Given the description of an element on the screen output the (x, y) to click on. 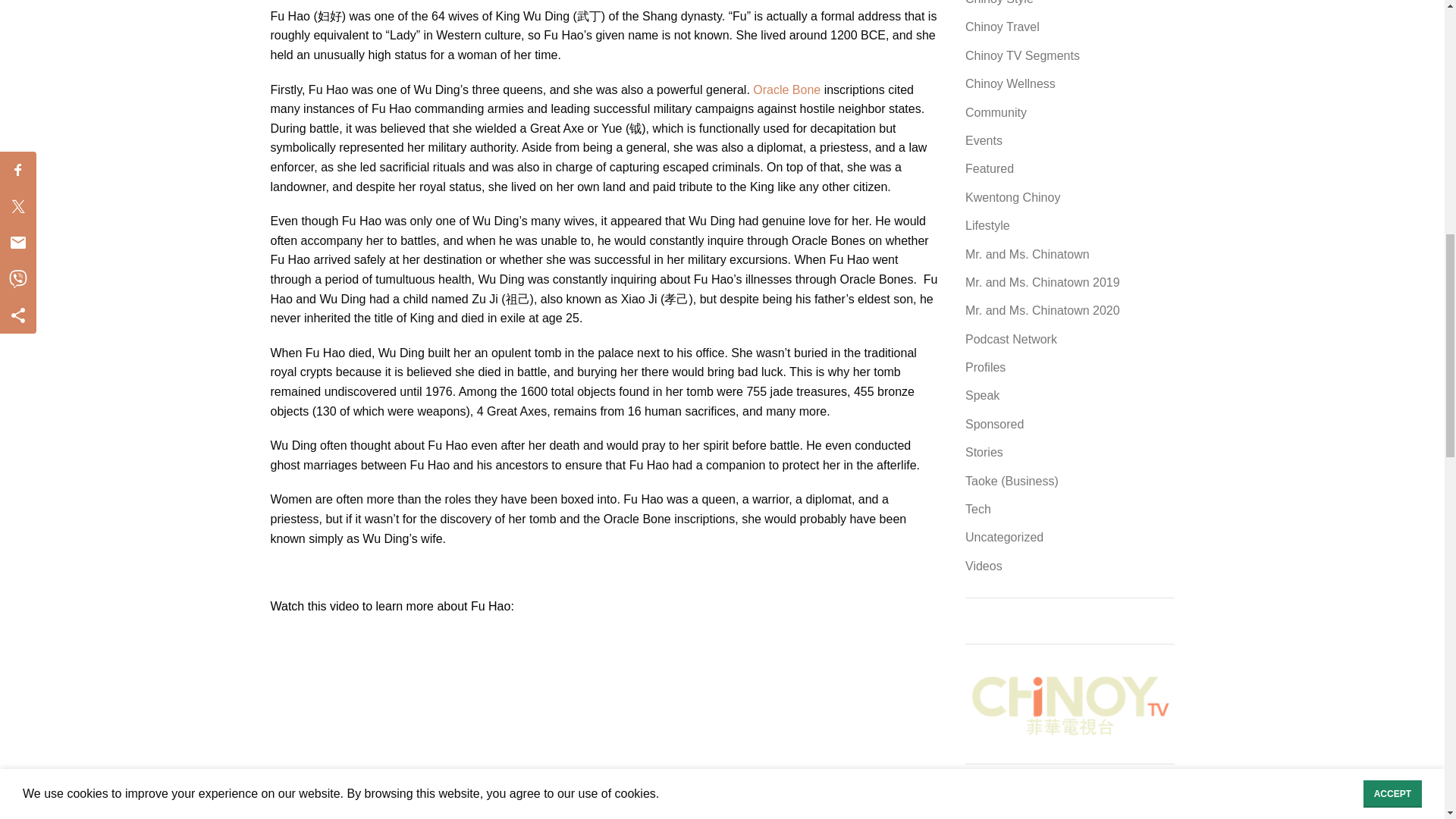
China's Forgotten Warrior Queen - Fu Hao (459, 724)
Oracle Bone (786, 89)
